Given the description of an element on the screen output the (x, y) to click on. 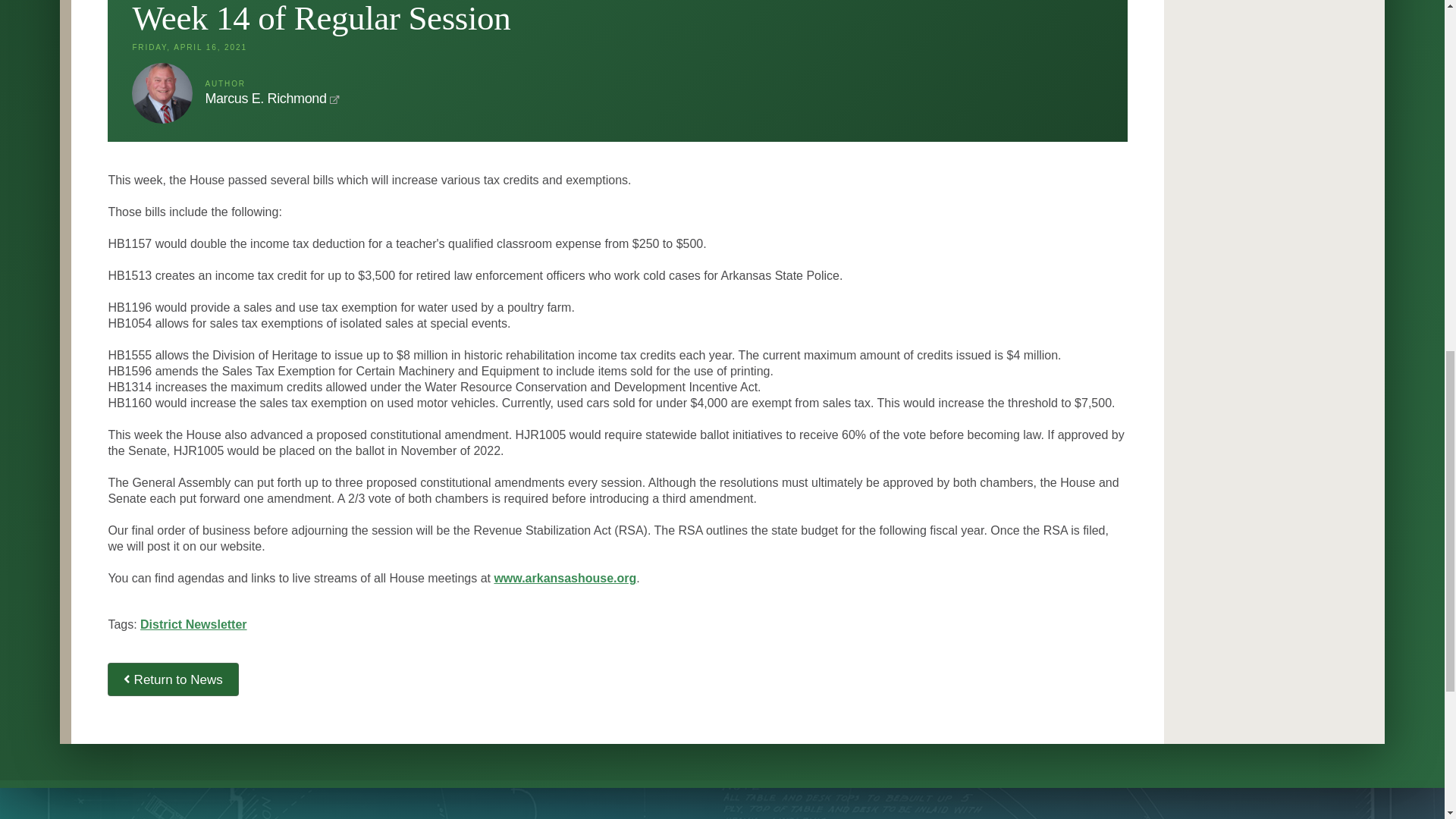
Marcus E. Richmond (162, 93)
www.arkansashouse.org (564, 577)
Marcus E. Richmond (265, 98)
Marcus E. Richmond (162, 93)
Back to News (172, 679)
District Newsletter (193, 624)
Return to News (172, 679)
Marcus E. Richmond (265, 98)
